Given the description of an element on the screen output the (x, y) to click on. 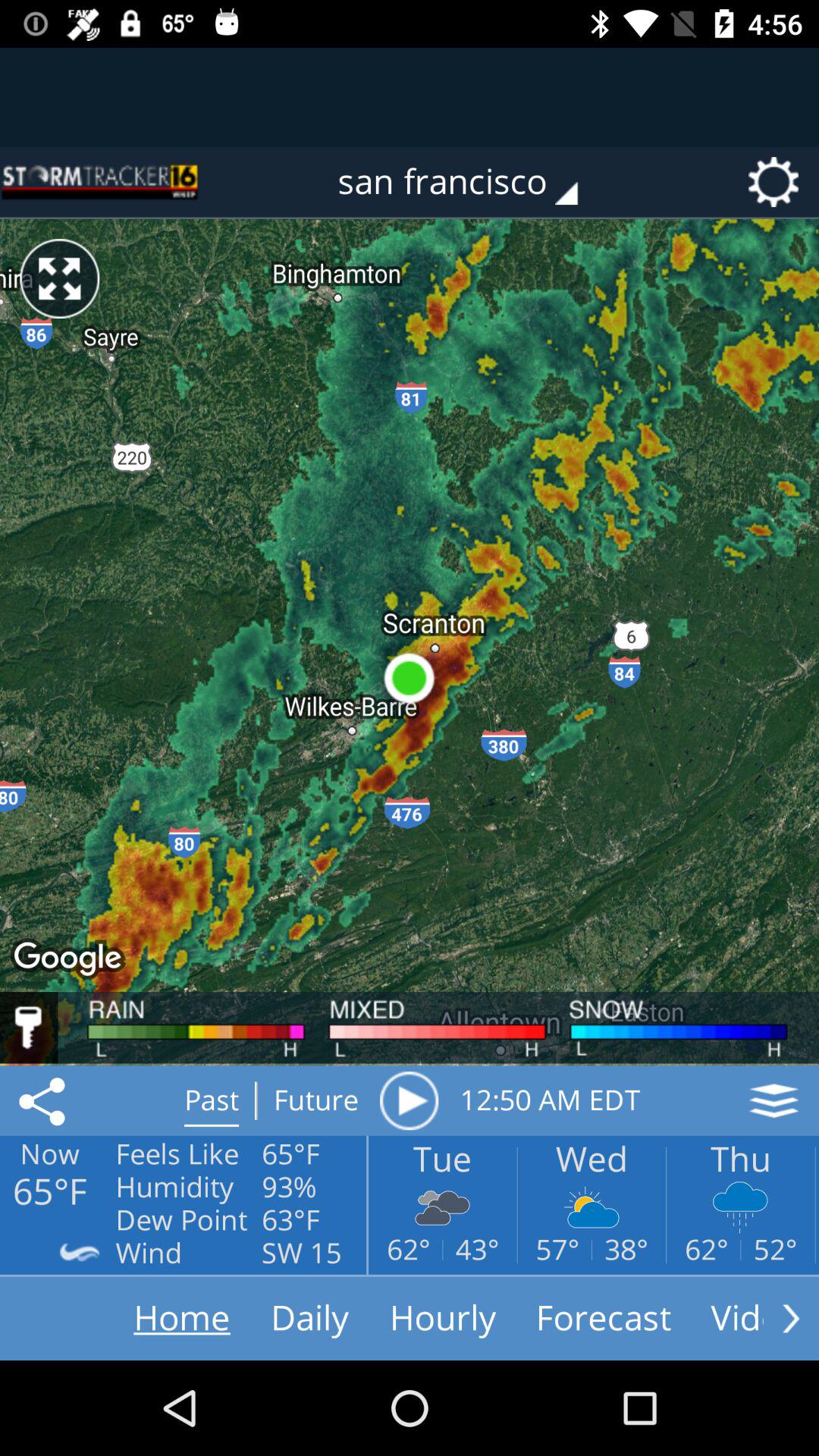
press the icon to the left of the 12 50 am (409, 1100)
